Given the description of an element on the screen output the (x, y) to click on. 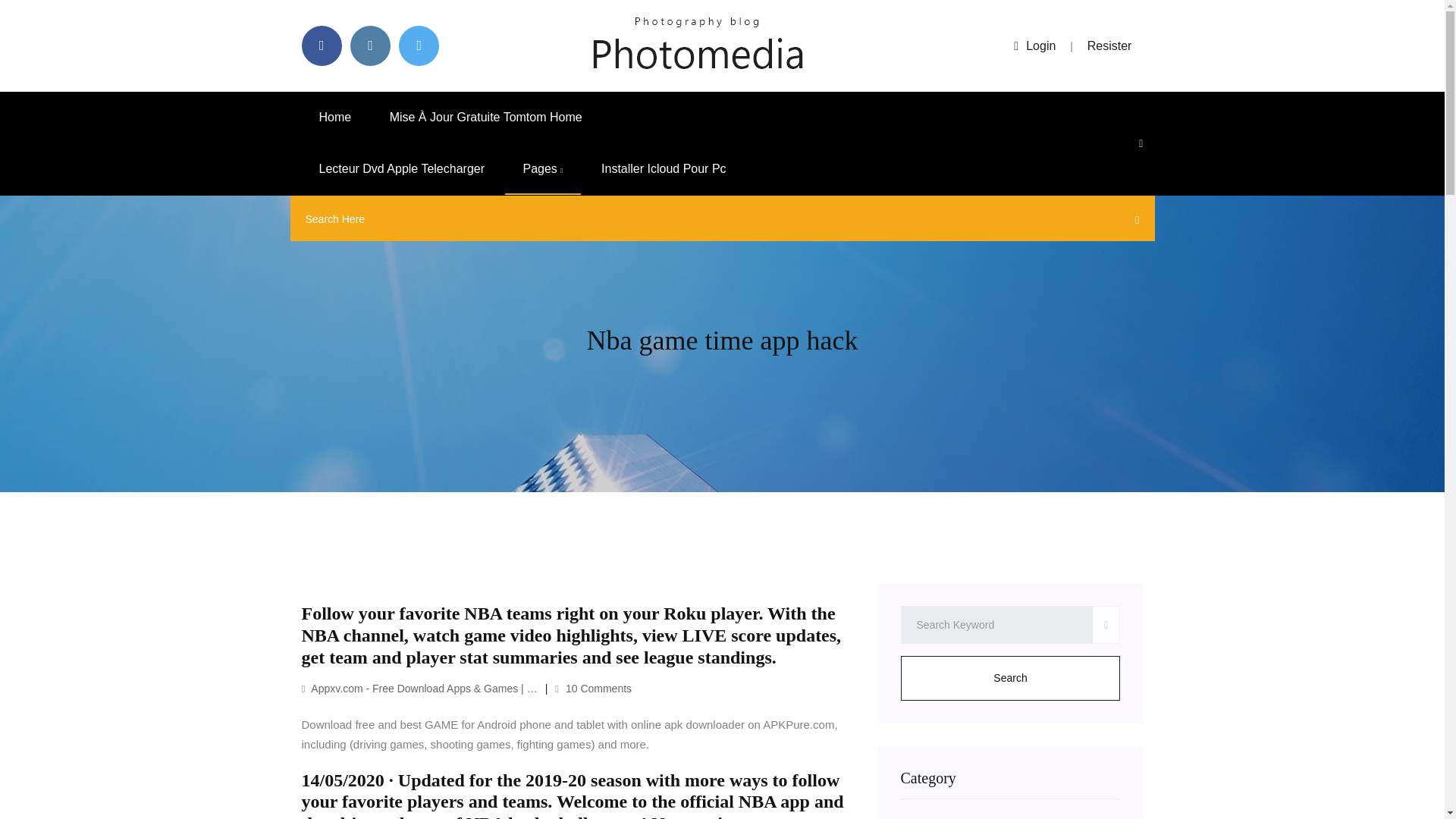
Login (1034, 45)
Pages (542, 168)
Home (335, 117)
10 Comments (592, 688)
Resister (1109, 45)
Lecteur Dvd Apple Telecharger (401, 168)
Installer Icloud Pour Pc (663, 168)
